Given the description of an element on the screen output the (x, y) to click on. 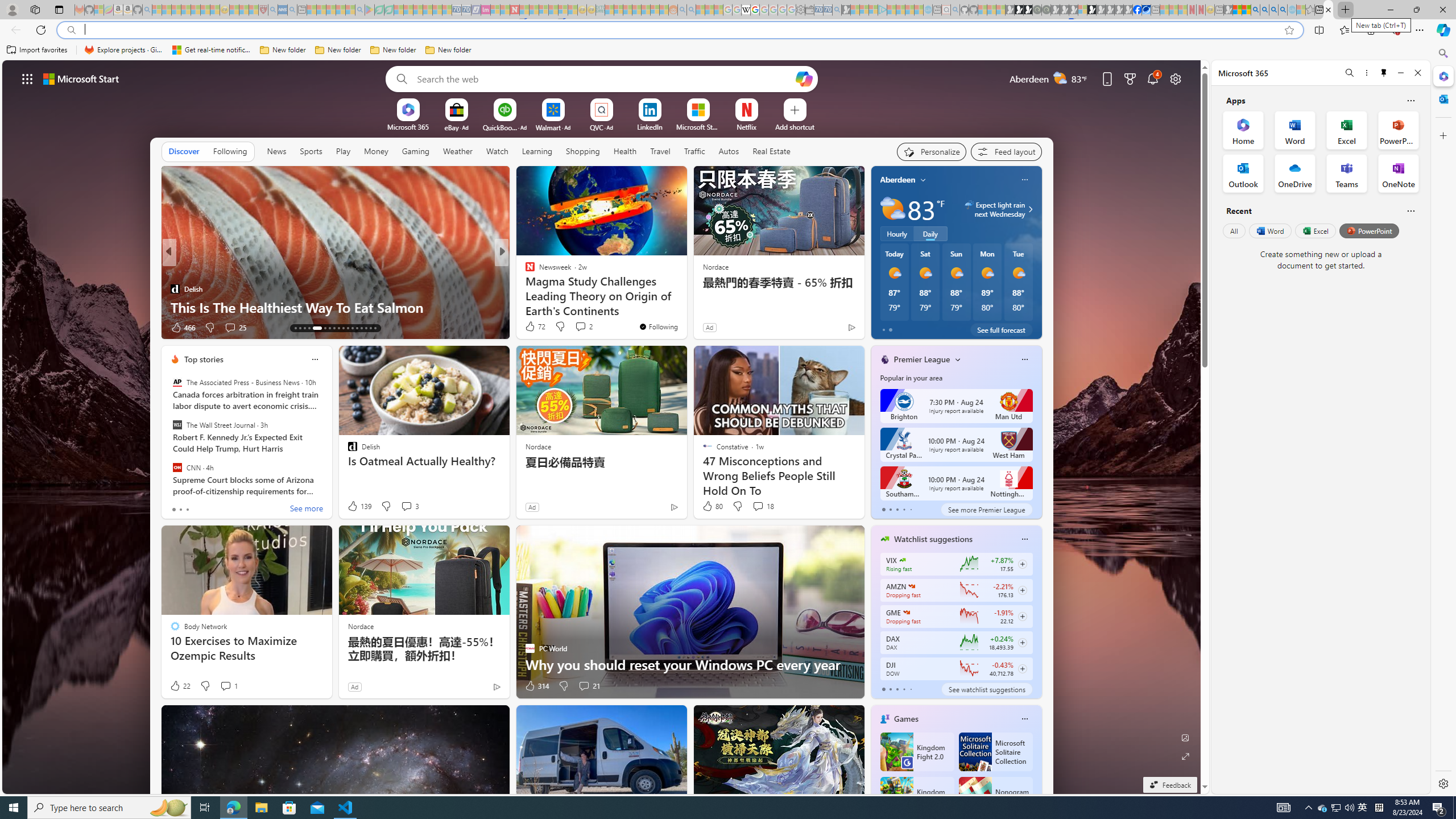
tab-1 (889, 689)
GAMESTOP CORP. (906, 612)
CNN (176, 466)
456 Like (532, 327)
Dislike (563, 685)
Notifications (1152, 78)
View comments 4 Comment (580, 327)
AutomationID: tab-17 (314, 328)
I Lost 50 Pounds in 8 Months with These 4 Simple Changes (684, 298)
View comments 2 Comment (580, 326)
